Given the description of an element on the screen output the (x, y) to click on. 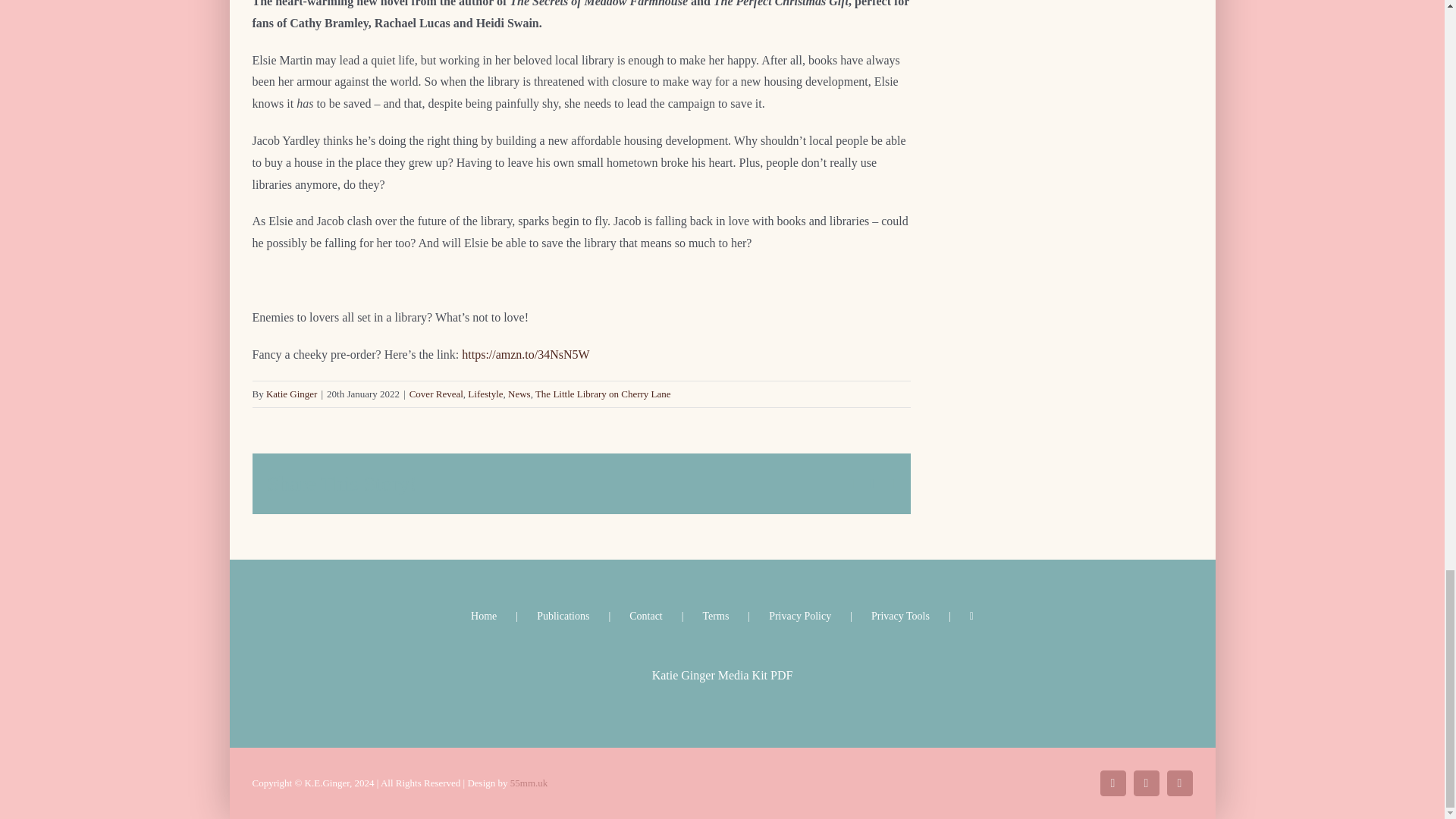
Contact (664, 615)
Instagram (1145, 783)
Katie Ginger (291, 393)
Privacy Tools (919, 615)
X (1112, 783)
Privacy Policy (819, 615)
Terms (736, 615)
Lifestyle (484, 393)
Cover Reveal (436, 393)
News (519, 393)
